Given the description of an element on the screen output the (x, y) to click on. 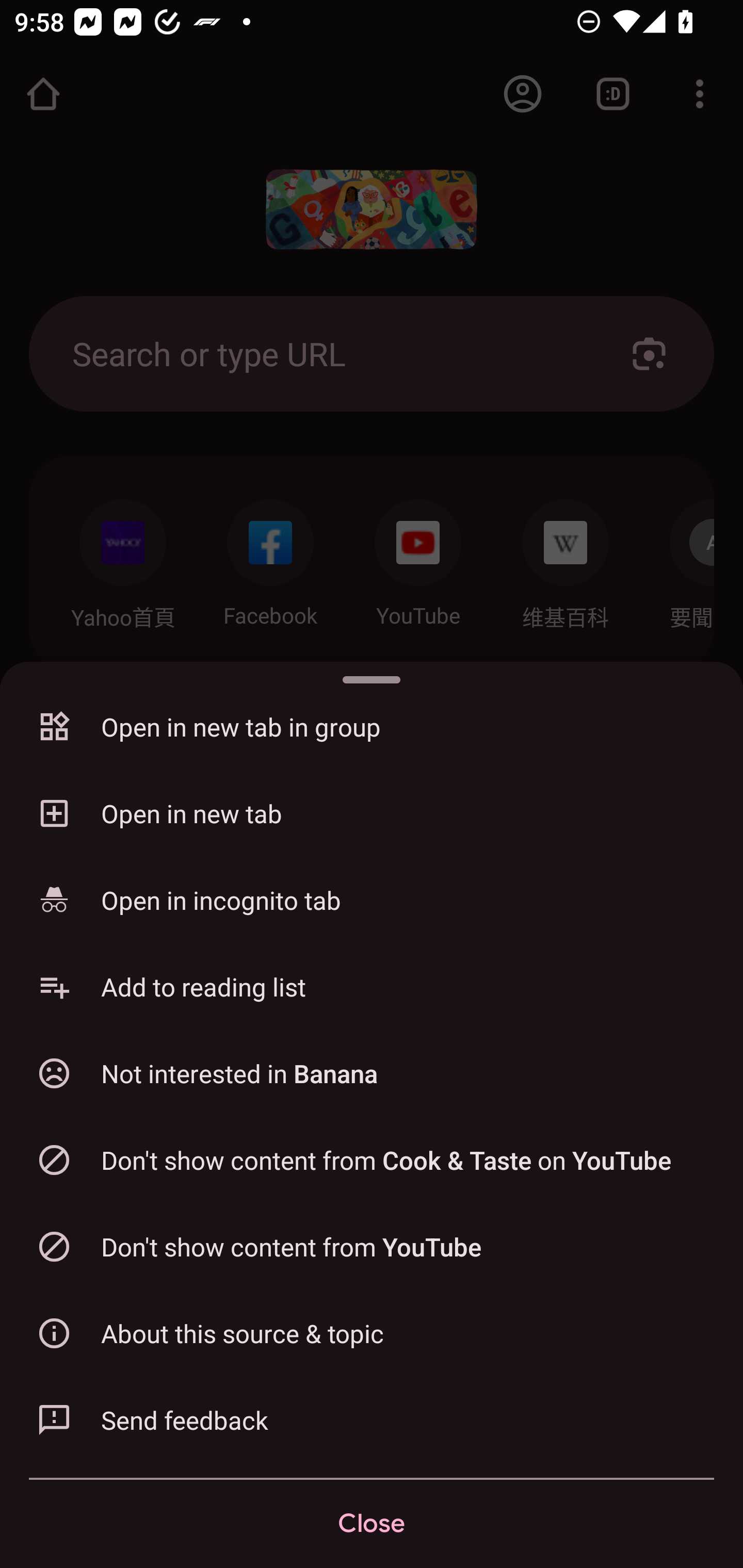
Close (371, 1524)
